Given the description of an element on the screen output the (x, y) to click on. 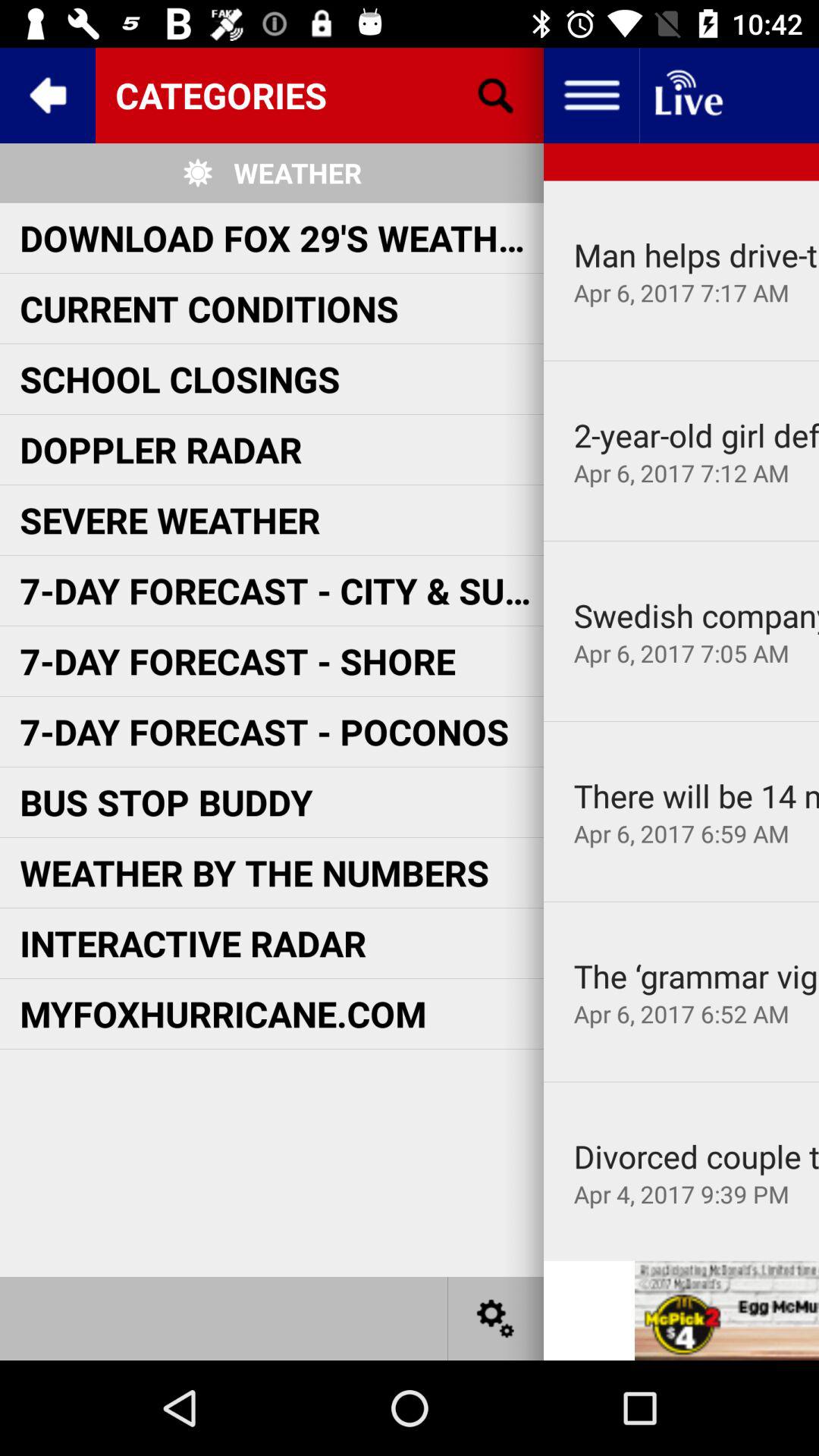
select live broadcast (687, 95)
